Given the description of an element on the screen output the (x, y) to click on. 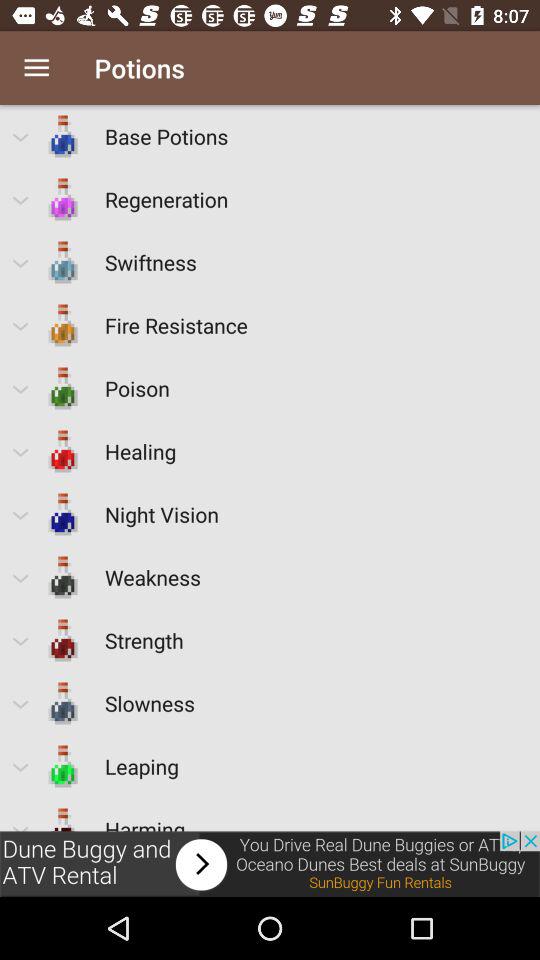
open advertisement (270, 864)
